Given the description of an element on the screen output the (x, y) to click on. 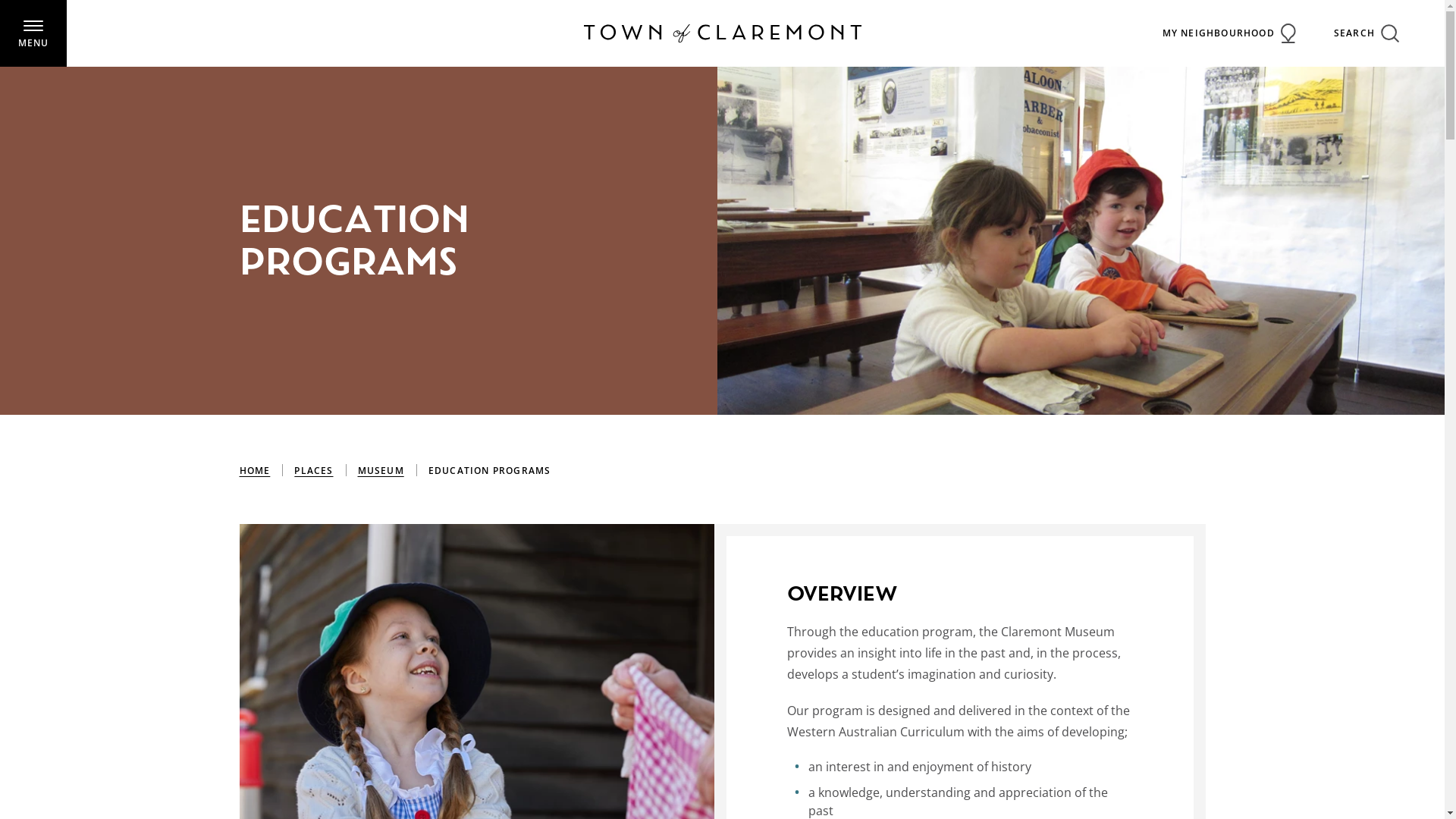
Submit Element type: text (57, 18)
MUSEUM Element type: text (380, 470)
HOME Element type: text (254, 470)
SEARCH Element type: text (1366, 33)
PLACES Element type: text (313, 470)
MY NEIGHBOURHOOD Element type: text (1228, 32)
MENU Element type: text (33, 33)
